Given the description of an element on the screen output the (x, y) to click on. 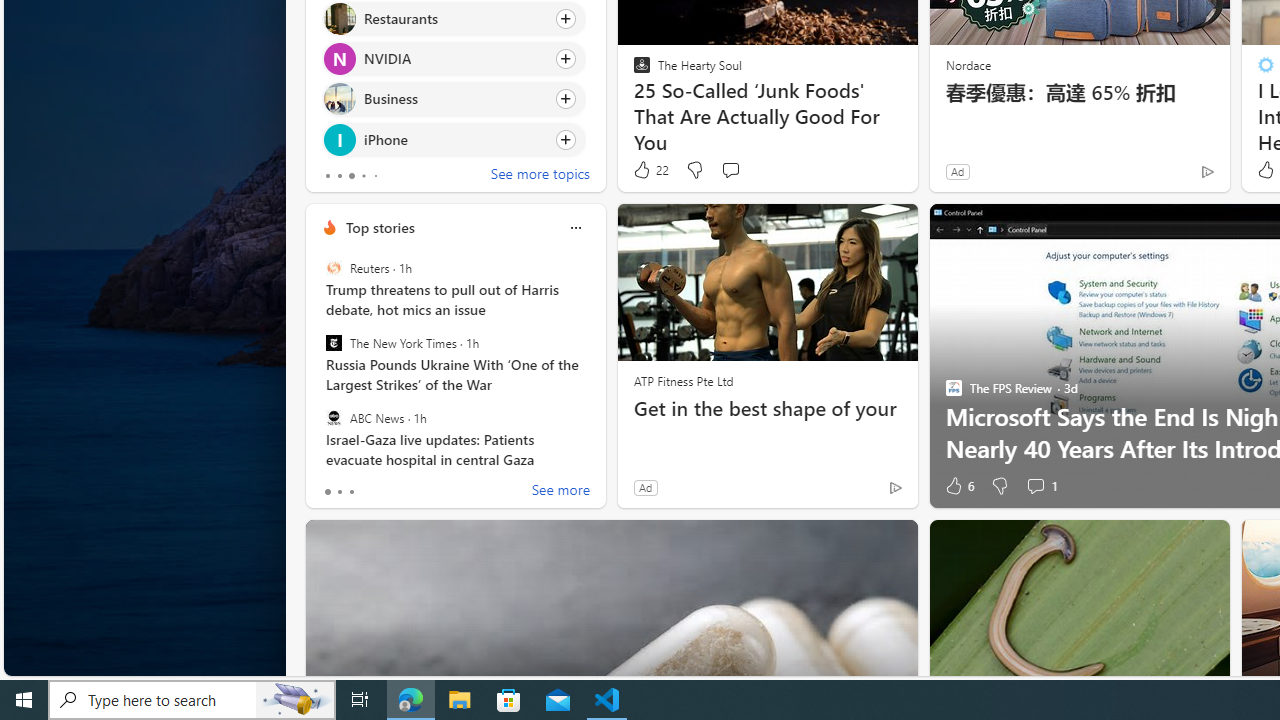
tab-0 (327, 491)
ABC News (333, 417)
Click to follow topic Business (453, 99)
Get in the best shape of your (767, 408)
Dislike (998, 485)
View comments 1 Comment (1035, 485)
Reuters (333, 268)
